Given the description of an element on the screen output the (x, y) to click on. 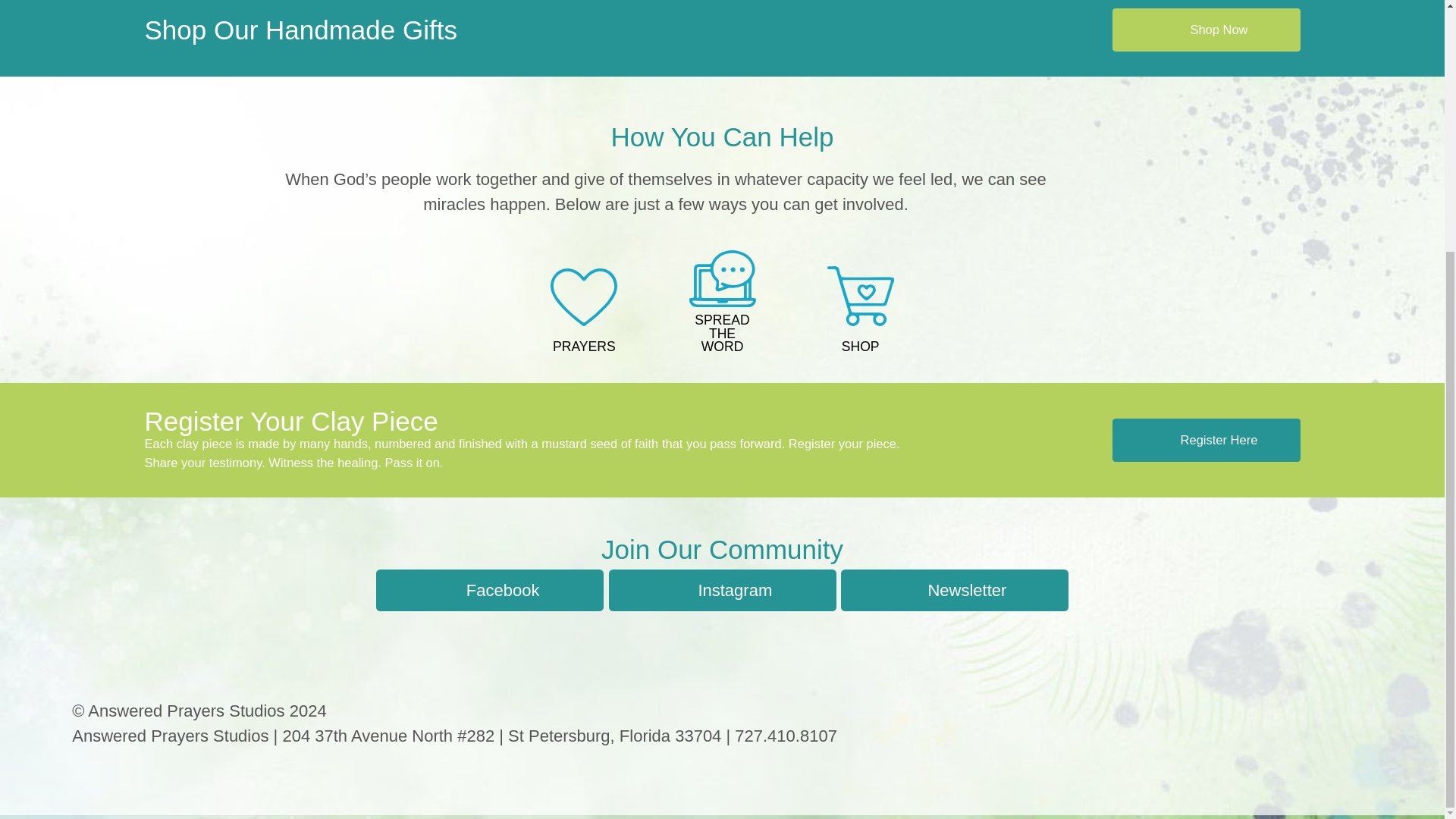
Shop Now (1206, 30)
Newsletter (954, 589)
PRAYERS (583, 312)
Facebook (489, 589)
SPREAD THE WORD (721, 303)
Register Here (1206, 440)
SHOP (860, 311)
Instagram (721, 589)
